Given the description of an element on the screen output the (x, y) to click on. 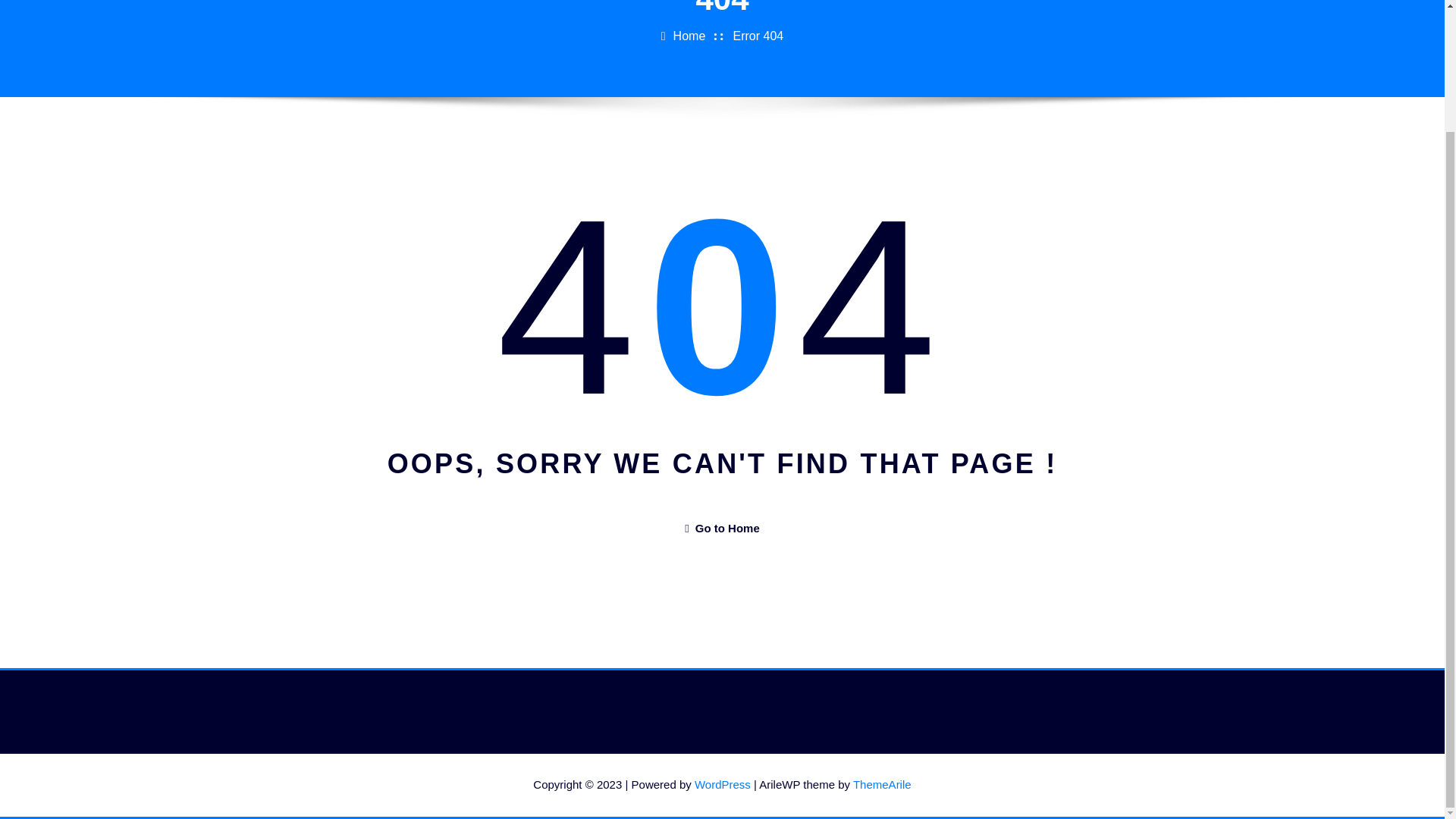
Home (689, 35)
ThemeArile (882, 784)
Error 404 (758, 35)
Go to Home (721, 528)
WordPress (722, 784)
